Given the description of an element on the screen output the (x, y) to click on. 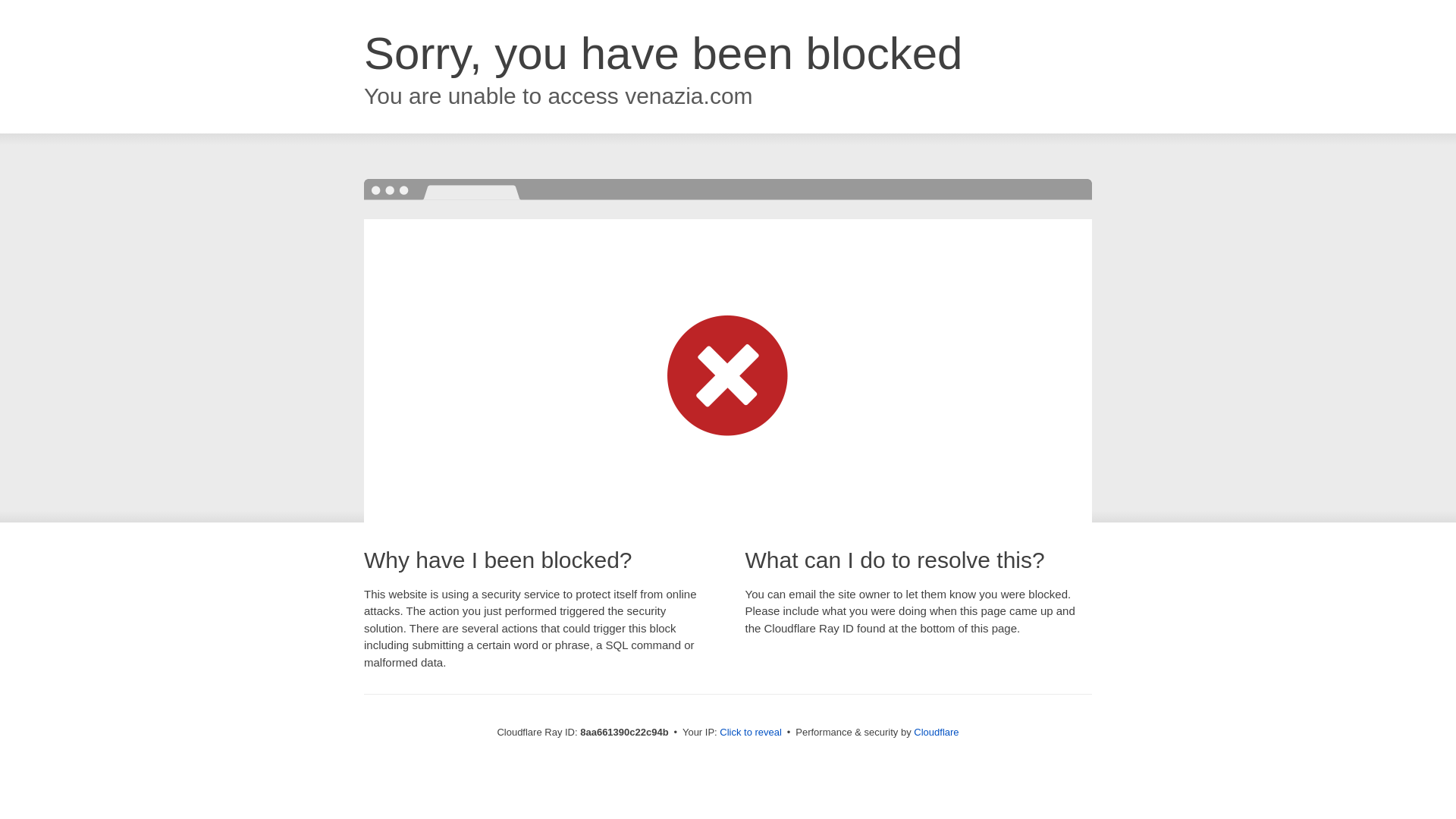
Cloudflare (936, 731)
Click to reveal (750, 732)
